Given the description of an element on the screen output the (x, y) to click on. 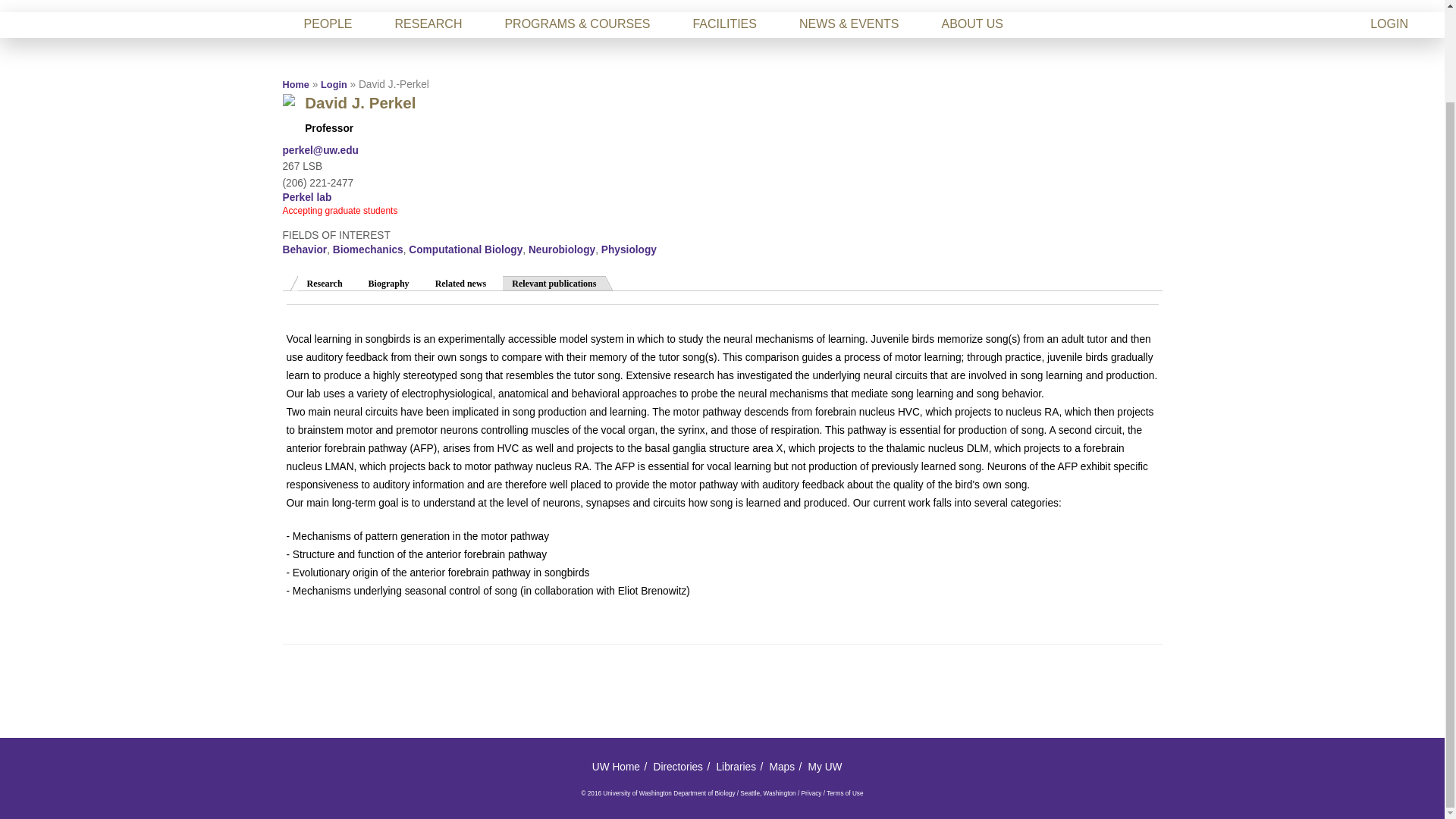
Login (333, 84)
Home (295, 84)
University of Washington (320, 6)
